Given the description of an element on the screen output the (x, y) to click on. 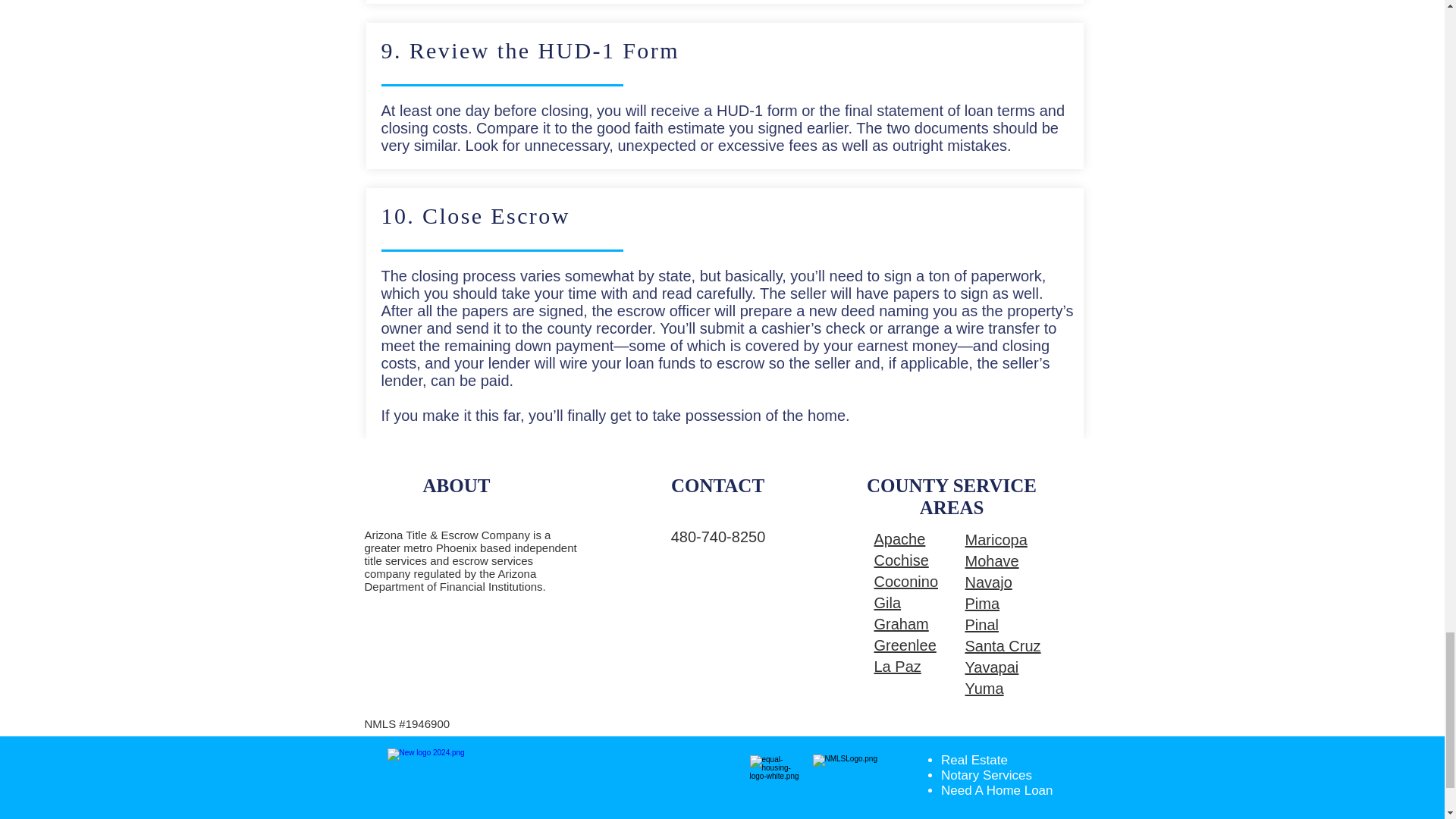
480-740-8250 (718, 536)
Mohave (990, 560)
title services (395, 560)
Apache (898, 538)
escrow services (491, 560)
Coconino (905, 581)
Maricopa (994, 539)
Graham (900, 623)
Greenlee (904, 645)
La Paz (896, 666)
Gila (887, 602)
Cochise (900, 560)
Navajo (987, 582)
